Given the description of an element on the screen output the (x, y) to click on. 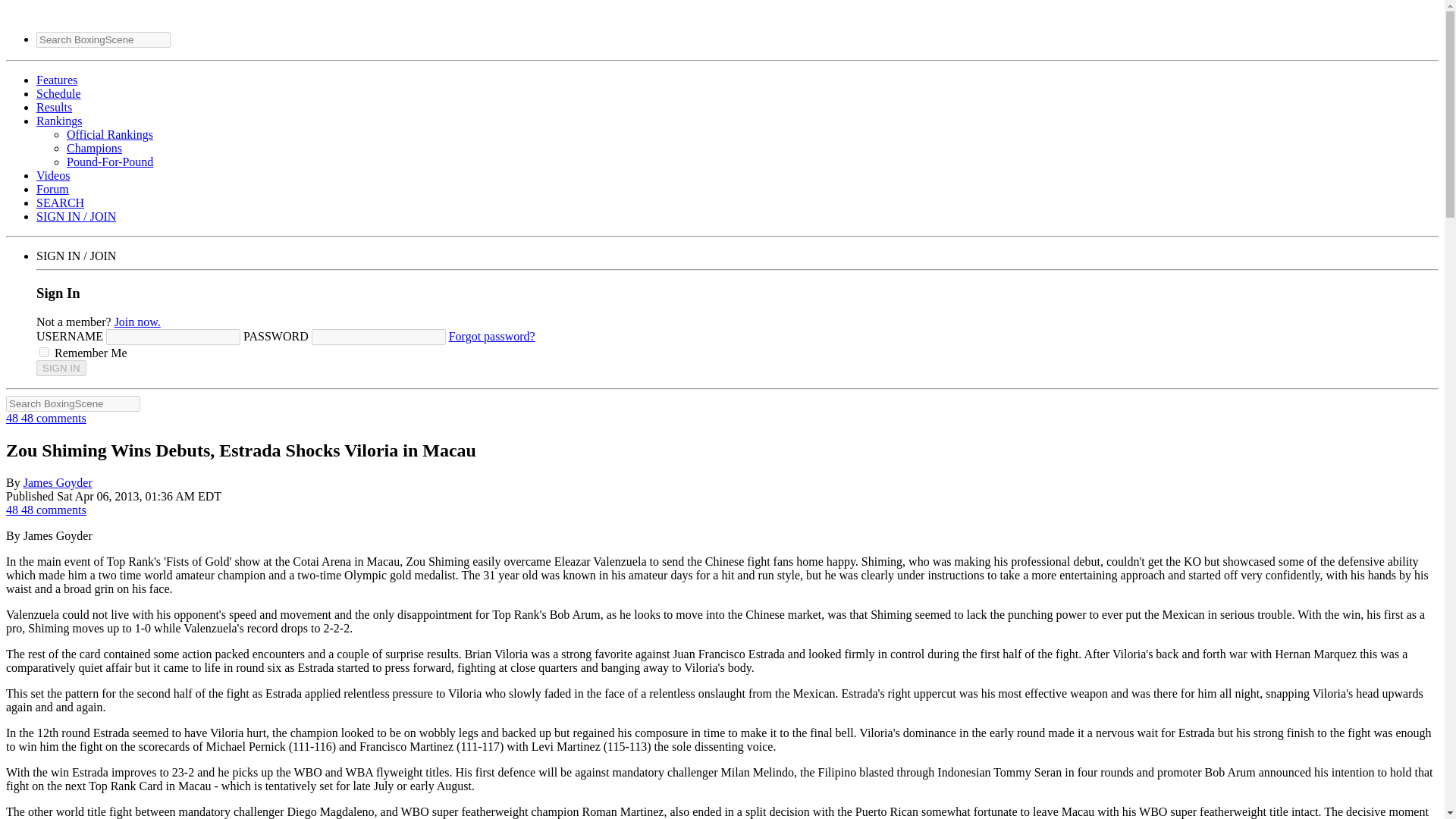
Forum (52, 188)
SIGN IN (60, 367)
Forgot password? (491, 336)
48 48 comments (45, 509)
James Goyder (58, 481)
Rankings (58, 120)
Champions (94, 147)
Results (53, 106)
48 48 comments (45, 418)
Join now. (137, 321)
